Given the description of an element on the screen output the (x, y) to click on. 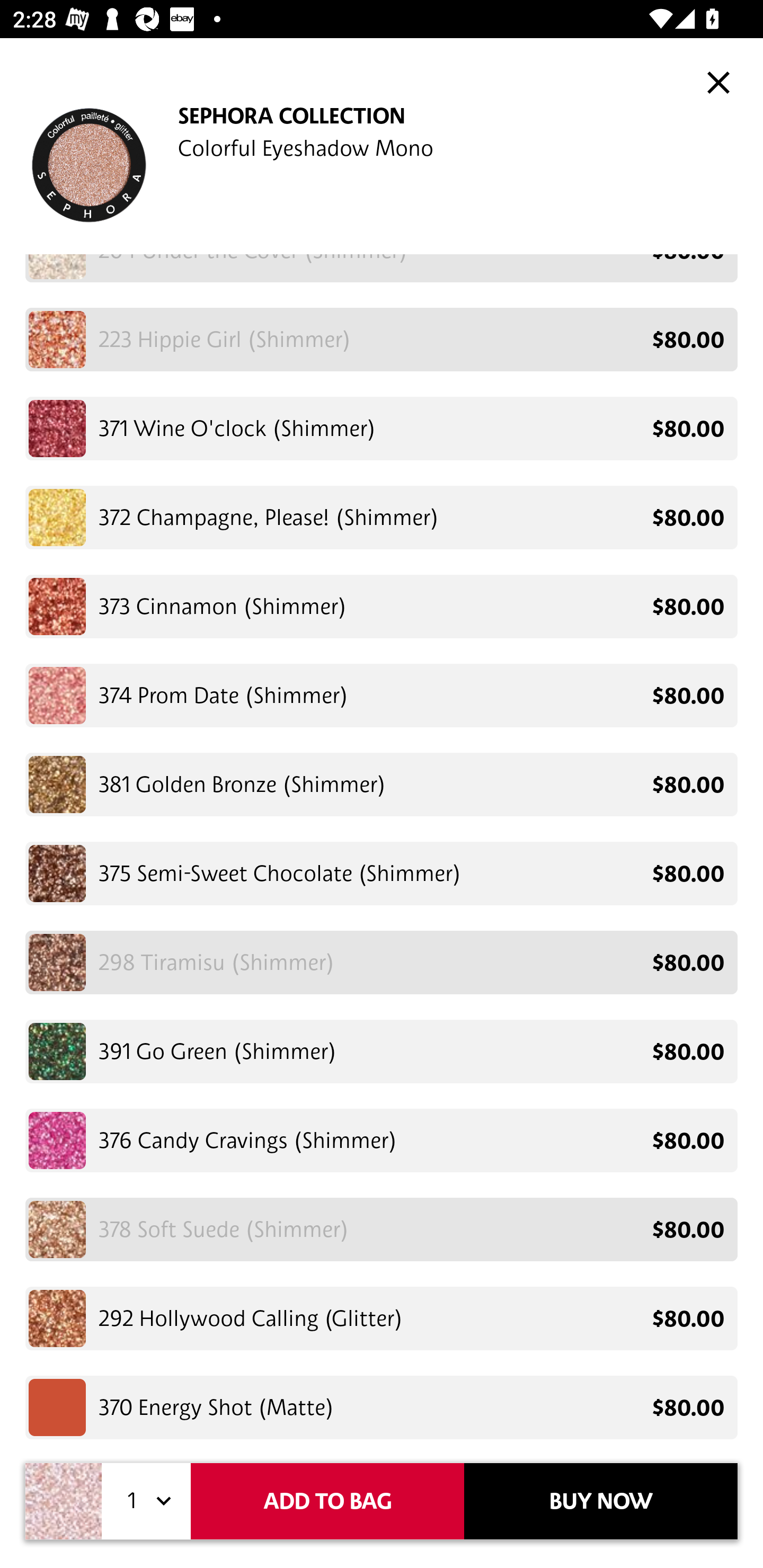
image description (718, 81)
SEPHORA COLLECTION Colorful Eyeshadow Mono (381, 158)
223 Hippie Girl (Shimmer) $80.00 (381, 339)
371 Wine O'clock (Shimmer) $80.00 (381, 428)
372 Champagne, Please! (Shimmer) $80.00 (381, 517)
373 Cinnamon (Shimmer) $80.00 (381, 605)
374 Prom Date (Shimmer) $80.00 (381, 694)
381 Golden Bronze (Shimmer) $80.00 (381, 784)
375 Semi-Sweet Chocolate (Shimmer) $80.00 (381, 873)
298 Tiramisu (Shimmer) $80.00 (381, 962)
391 Go Green (Shimmer) $80.00 (381, 1050)
376 Candy Cravings (Shimmer) $80.00 (381, 1140)
378 Soft Suede (Shimmer) $80.00 (381, 1228)
292 Hollywood Calling (Glitter) $80.00 (381, 1318)
370 Energy Shot (Matte) $80.00 (381, 1403)
1 (145, 1500)
ADD TO BAG (326, 1500)
BUY NOW (600, 1500)
